Given the description of an element on the screen output the (x, y) to click on. 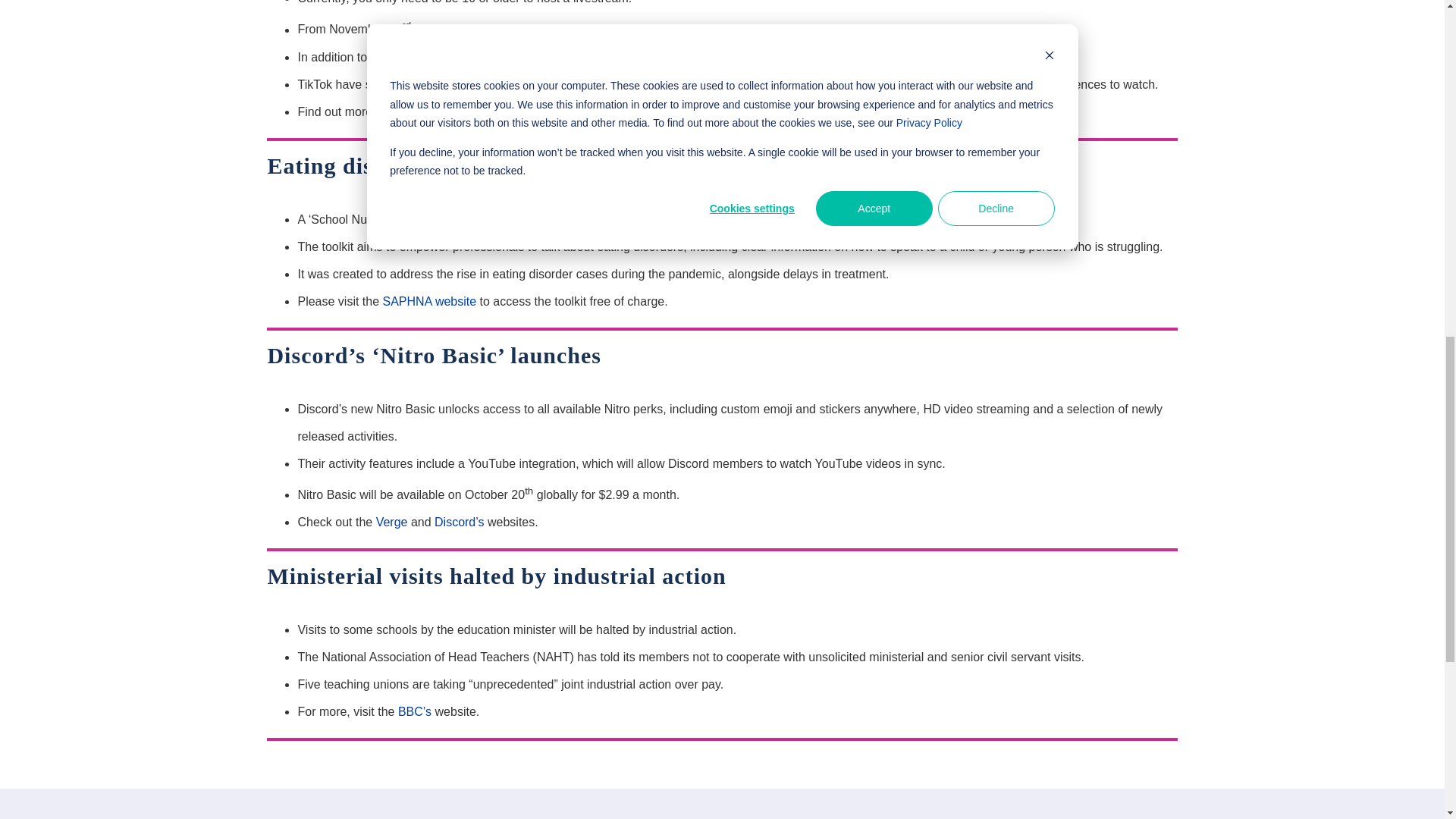
Verge (391, 521)
Verge (569, 111)
SAPHNA website (429, 300)
Tech Crunch (709, 111)
